Given the description of an element on the screen output the (x, y) to click on. 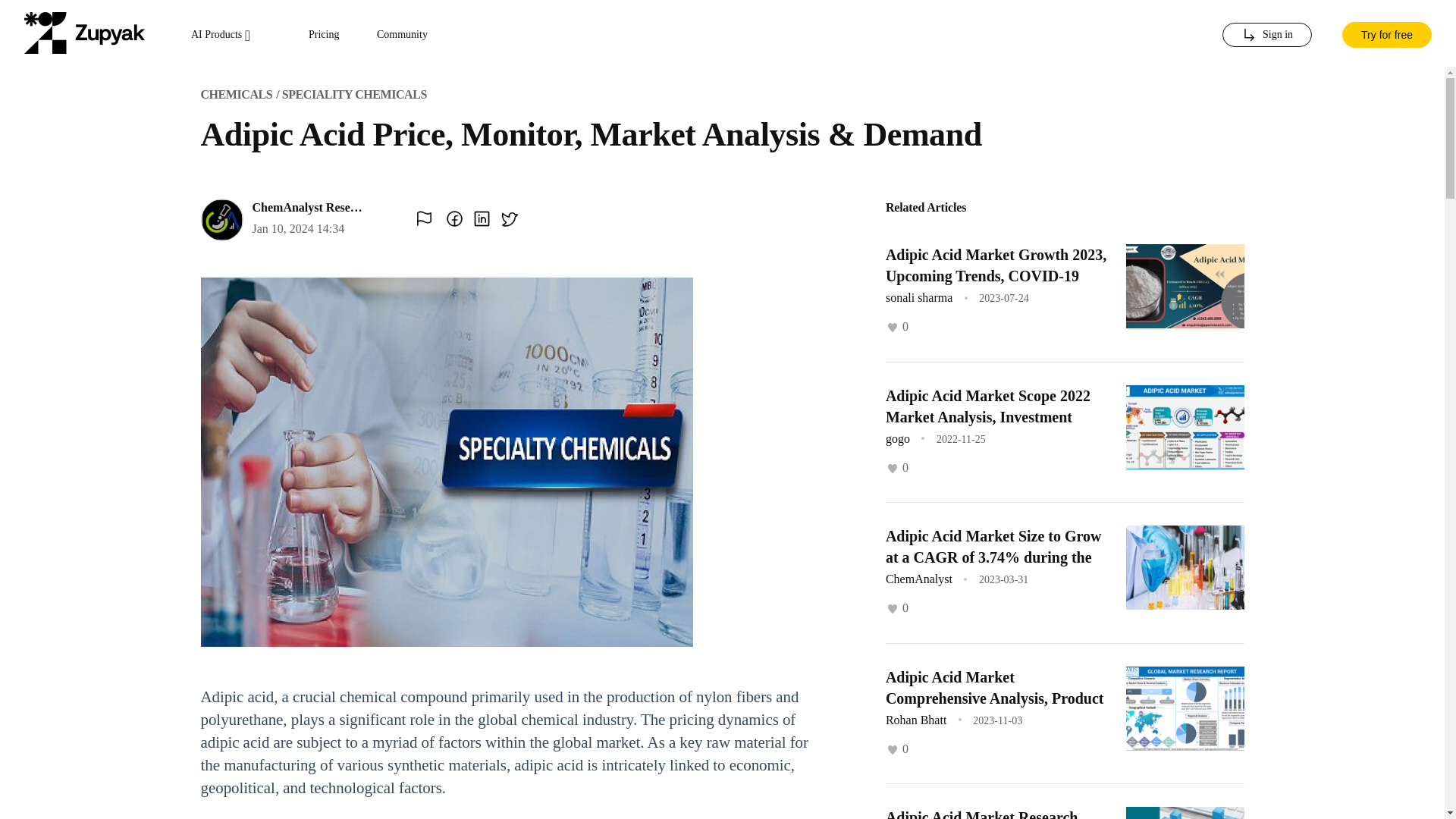
Adipic Acid Market Research Report (981, 814)
 Sign in (1267, 34)
SPECIALITY CHEMICALS (354, 93)
Try for free (1386, 33)
CHEMICALS (236, 93)
Community (402, 34)
Pricing (323, 34)
